Given the description of an element on the screen output the (x, y) to click on. 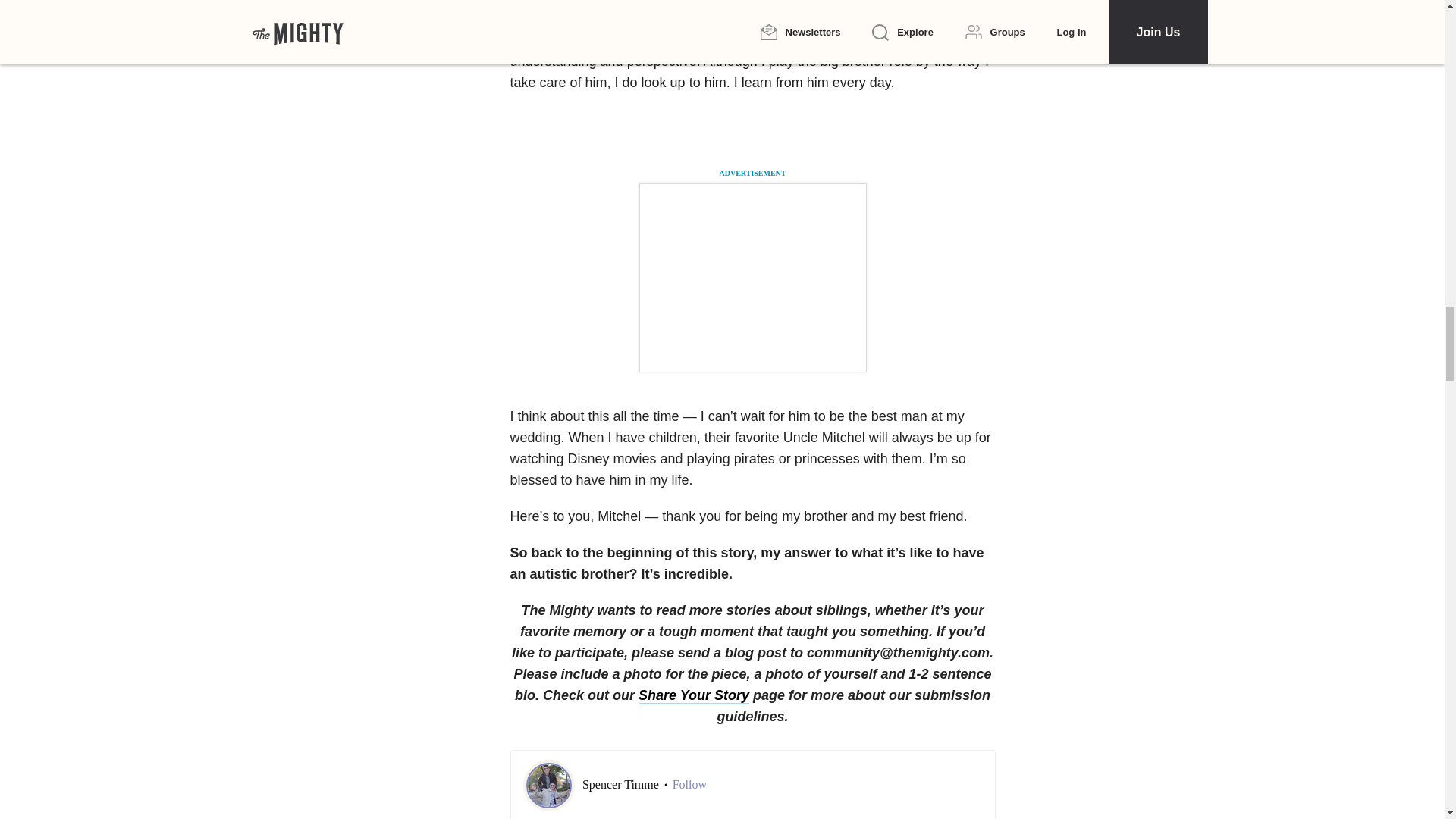
Spencer Timme (622, 784)
Follow (689, 784)
ADVERTISEMENT (752, 172)
Share Your Story (694, 695)
